Given the description of an element on the screen output the (x, y) to click on. 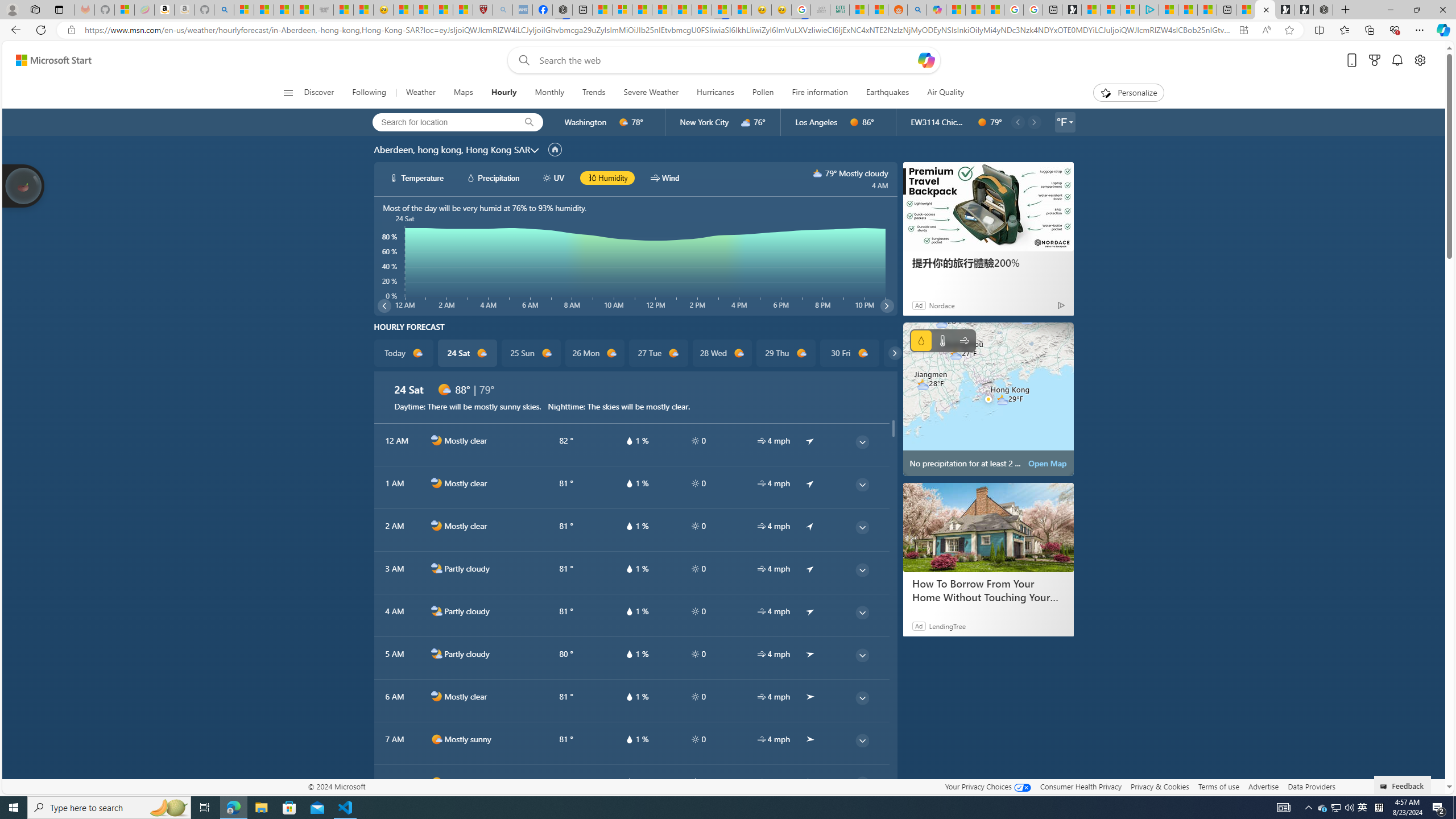
26 Mon d1000 (594, 352)
Maps (462, 92)
